Given the description of an element on the screen output the (x, y) to click on. 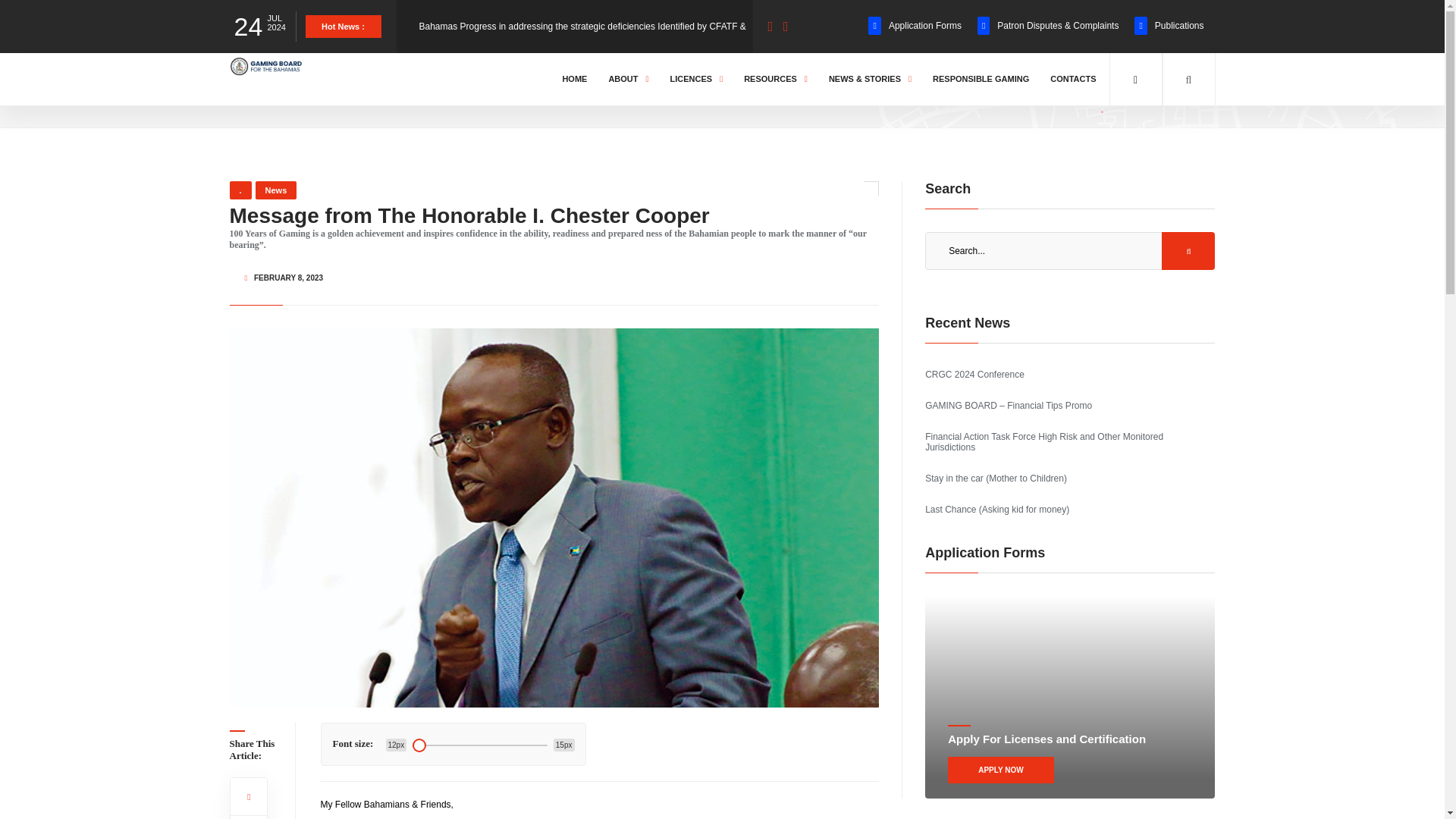
Application Forms (913, 25)
ABOUT (627, 79)
. (239, 189)
Publications (1169, 25)
RESOURCES (775, 79)
CONTACTS (1072, 79)
Scroll Down To Discover (1154, 88)
HOME (574, 79)
RESPONSIBLE GAMING (980, 79)
HOME (246, 92)
LICENCES (697, 79)
